Given the description of an element on the screen output the (x, y) to click on. 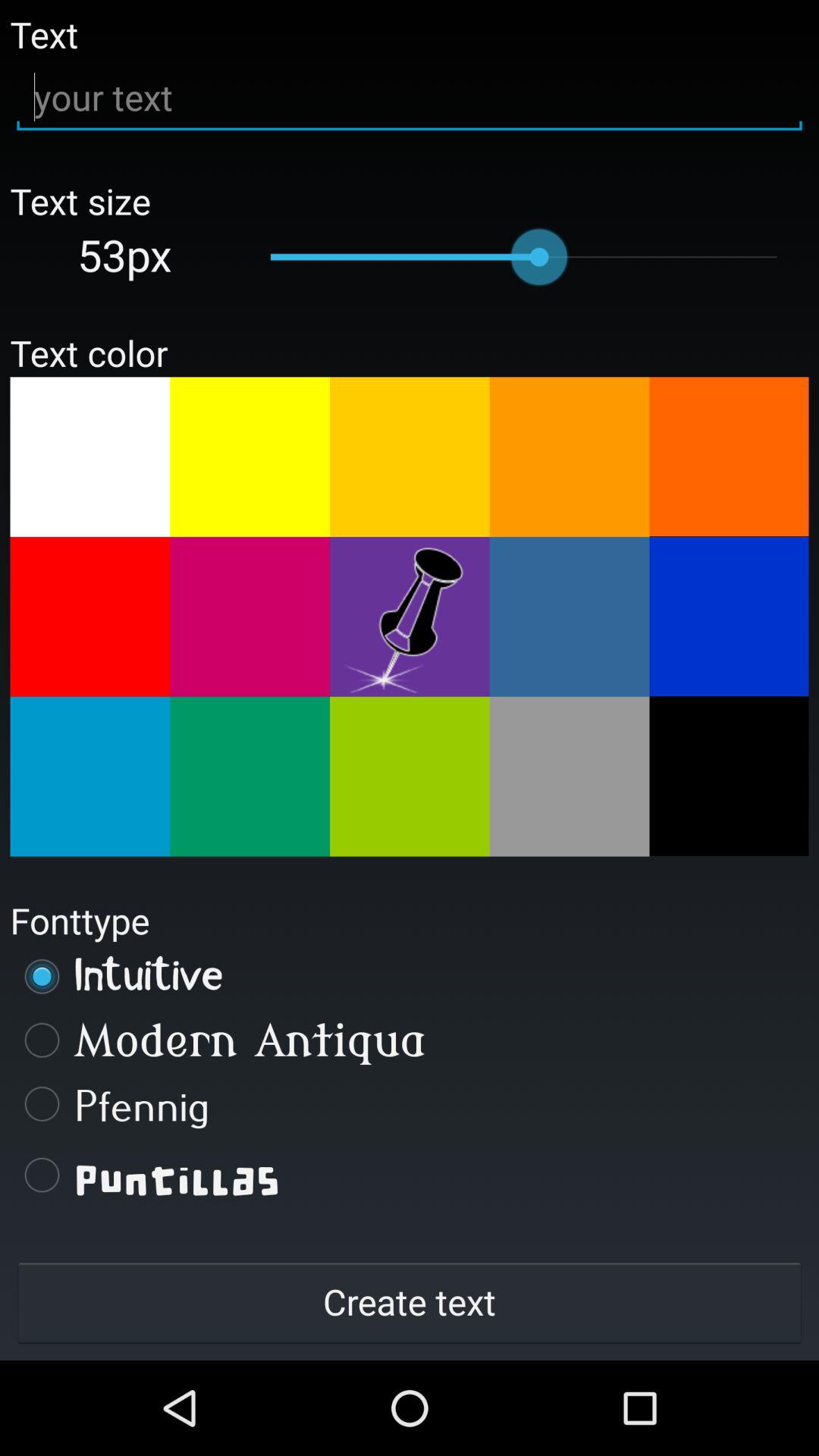
select color (409, 456)
